Given the description of an element on the screen output the (x, y) to click on. 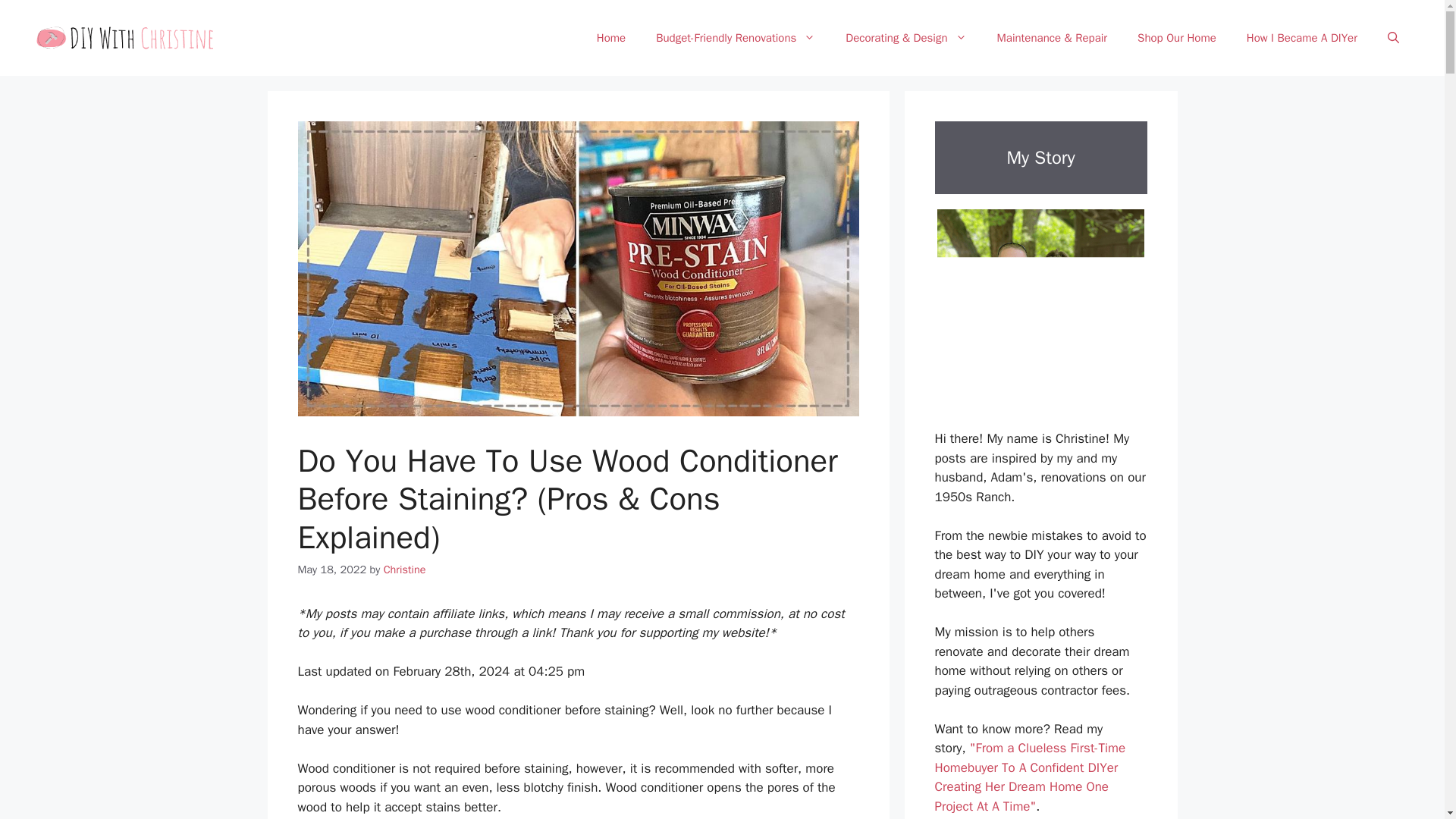
How I Became A DIYer (1302, 37)
Shop Our Home (1176, 37)
Christine (405, 569)
Home (610, 37)
Budget-Friendly Renovations (734, 37)
View all posts by Christine (405, 569)
